Given the description of an element on the screen output the (x, y) to click on. 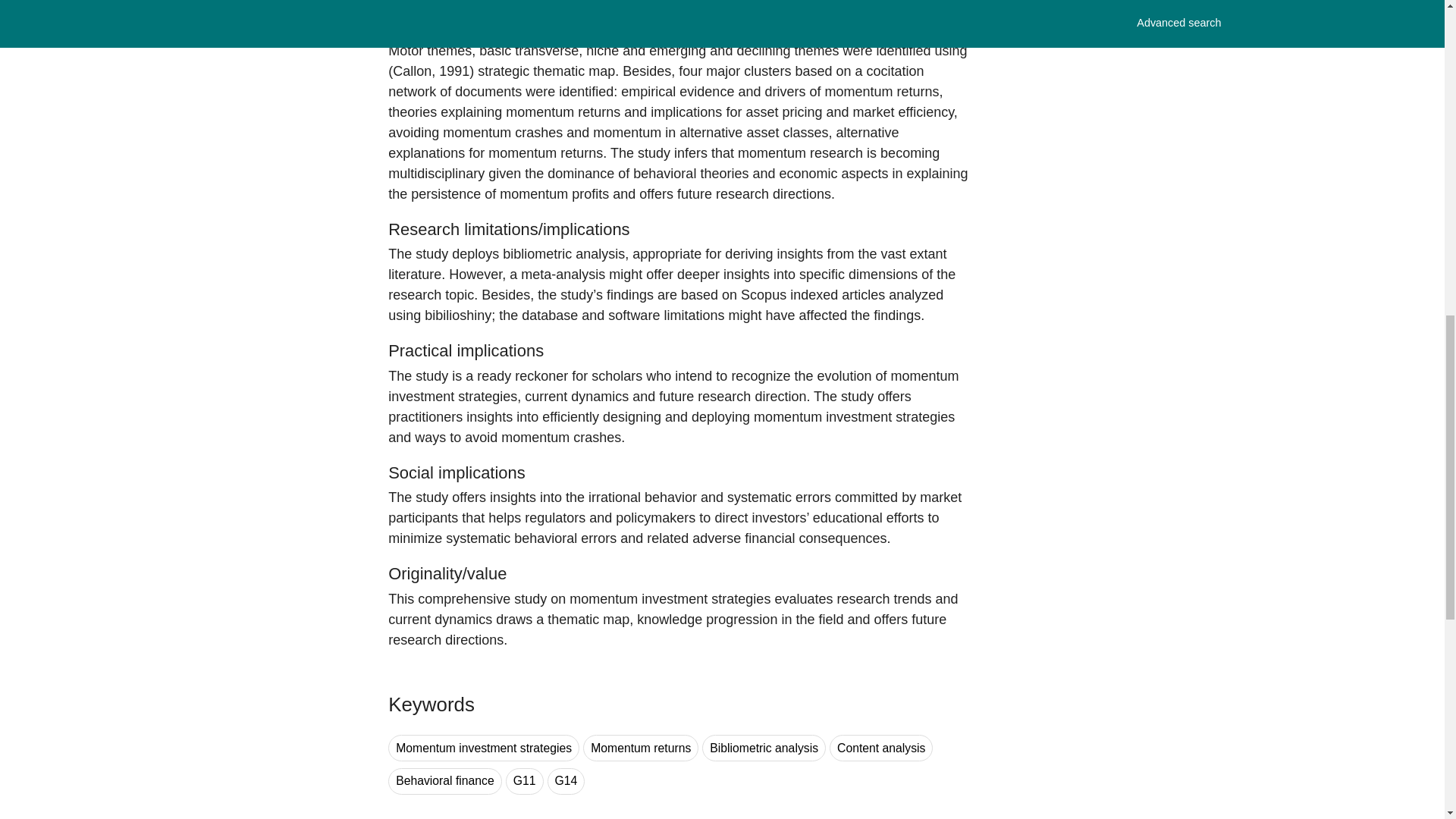
Momentum investment strategies (483, 747)
Momentum returns (640, 747)
Search for keyword Momentum returns (640, 747)
Search for keyword Momentum investment strategies (483, 747)
Bibliometric analysis (763, 747)
Search for keyword G14 (566, 781)
Search for keyword Bibliometric analysis (763, 747)
Search for keyword G11 (524, 781)
Content analysis (881, 747)
G14 (566, 781)
Search for keyword Behavioral finance (445, 781)
Behavioral finance (445, 781)
G11 (524, 781)
Search for keyword Content analysis (881, 747)
